Given the description of an element on the screen output the (x, y) to click on. 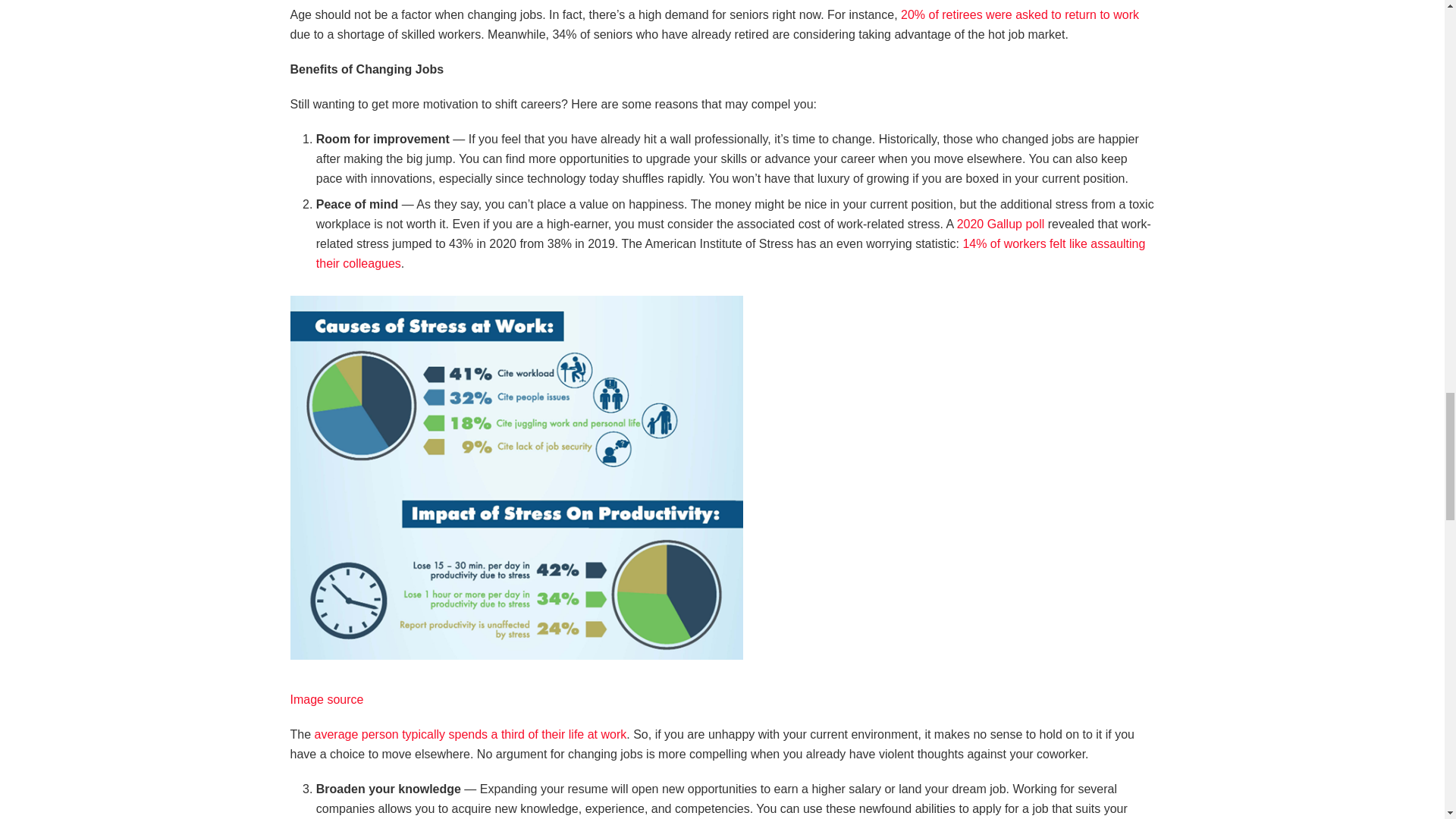
2020 Gallup poll (1000, 223)
Image source (325, 698)
